Given the description of an element on the screen output the (x, y) to click on. 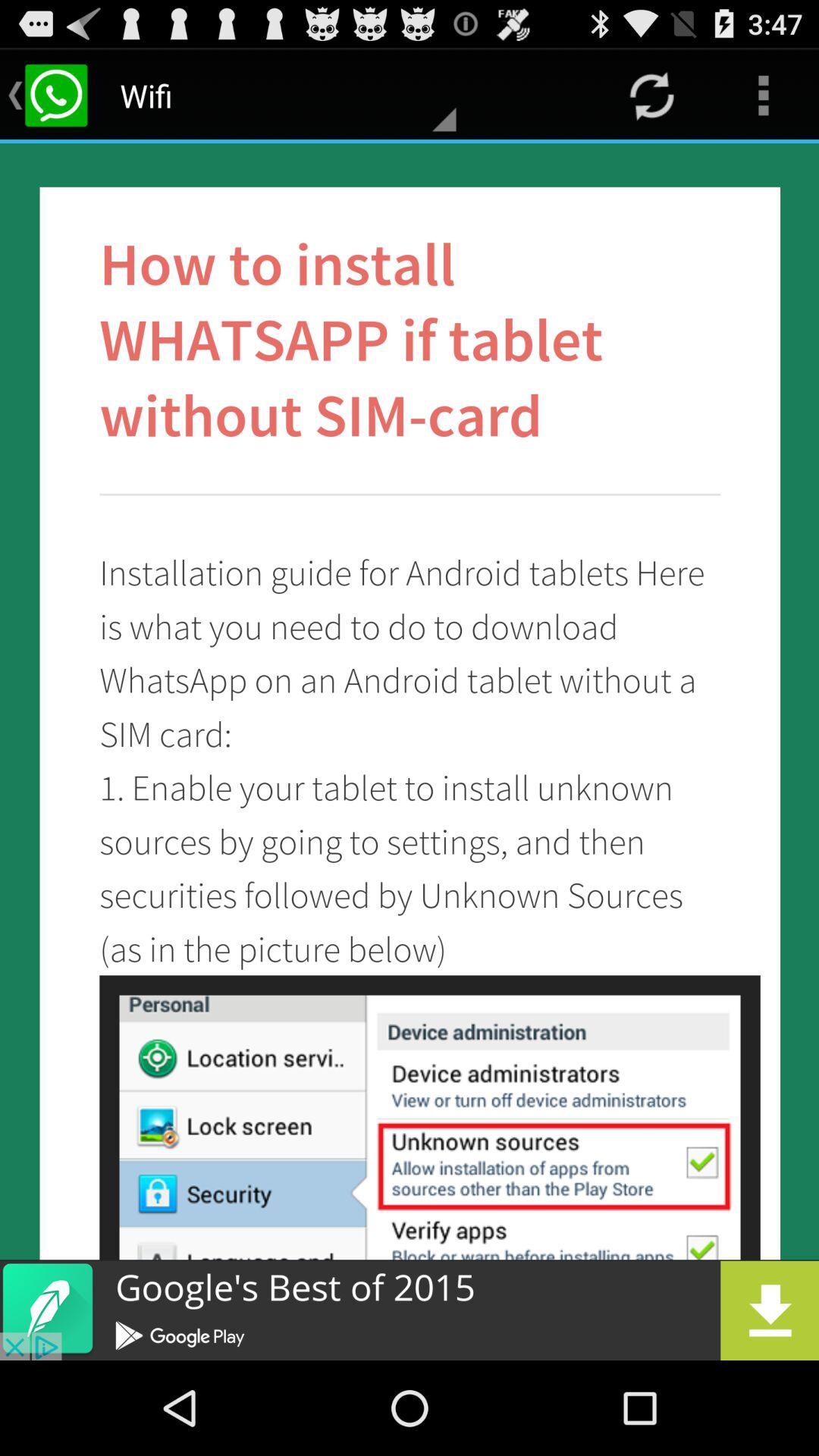
advertisement image or install option (409, 1310)
